Given the description of an element on the screen output the (x, y) to click on. 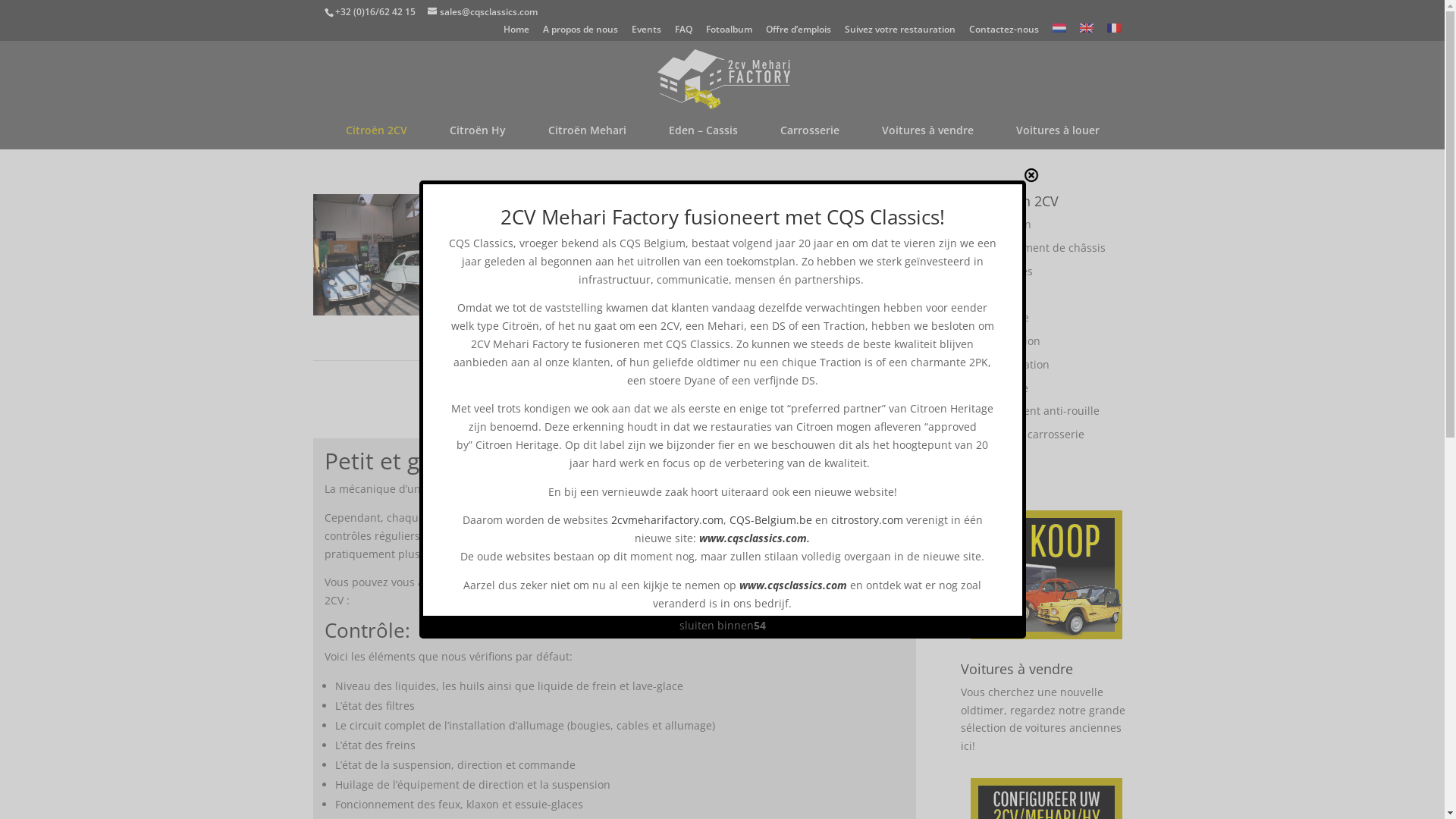
sales@cqsclassics.com Element type: text (482, 11)
Prochaine Element type: text (879, 377)
citrostory.com Element type: text (867, 519)
Travaux carrosserie Element type: text (1034, 433)
2cvmeharifactory.com Element type: text (667, 519)
Soudage Element type: text (1006, 387)
Nouvelle Element type: text (1006, 317)
www.cqsclassics.com Element type: text (793, 584)
Traitement anti-rouille Element type: text (1041, 410)
A propos de nous Element type: text (580, 32)
Carrosserie Element type: text (809, 133)
FERMER Element type: hover (1030, 174)
Contactez-nous Element type: text (1003, 32)
Suivez votre restauration Element type: text (899, 32)
FAQ Element type: text (683, 32)
1 Element type: text (809, 377)
2 Element type: text (831, 377)
Histoire Element type: text (1003, 293)
Events Element type: text (645, 32)
2cv-Mehari-Factory081 Element type: hover (397, 311)
22009926-french-blue-citroen-2-cv-parked-on-a-street- Element type: hover (829, 311)
Restauration Element type: text (1016, 364)
Exemples Element type: text (1008, 270)
CQS-Belgium.be Element type: text (770, 519)
Home Element type: text (516, 32)
Fotoalbum Element type: text (728, 32)
Entretien Element type: text (1007, 223)
www.cqsclassics.com Element type: text (752, 537)
2cv-mehari-factory509 Element type: hover (613, 311)
